Given the description of an element on the screen output the (x, y) to click on. 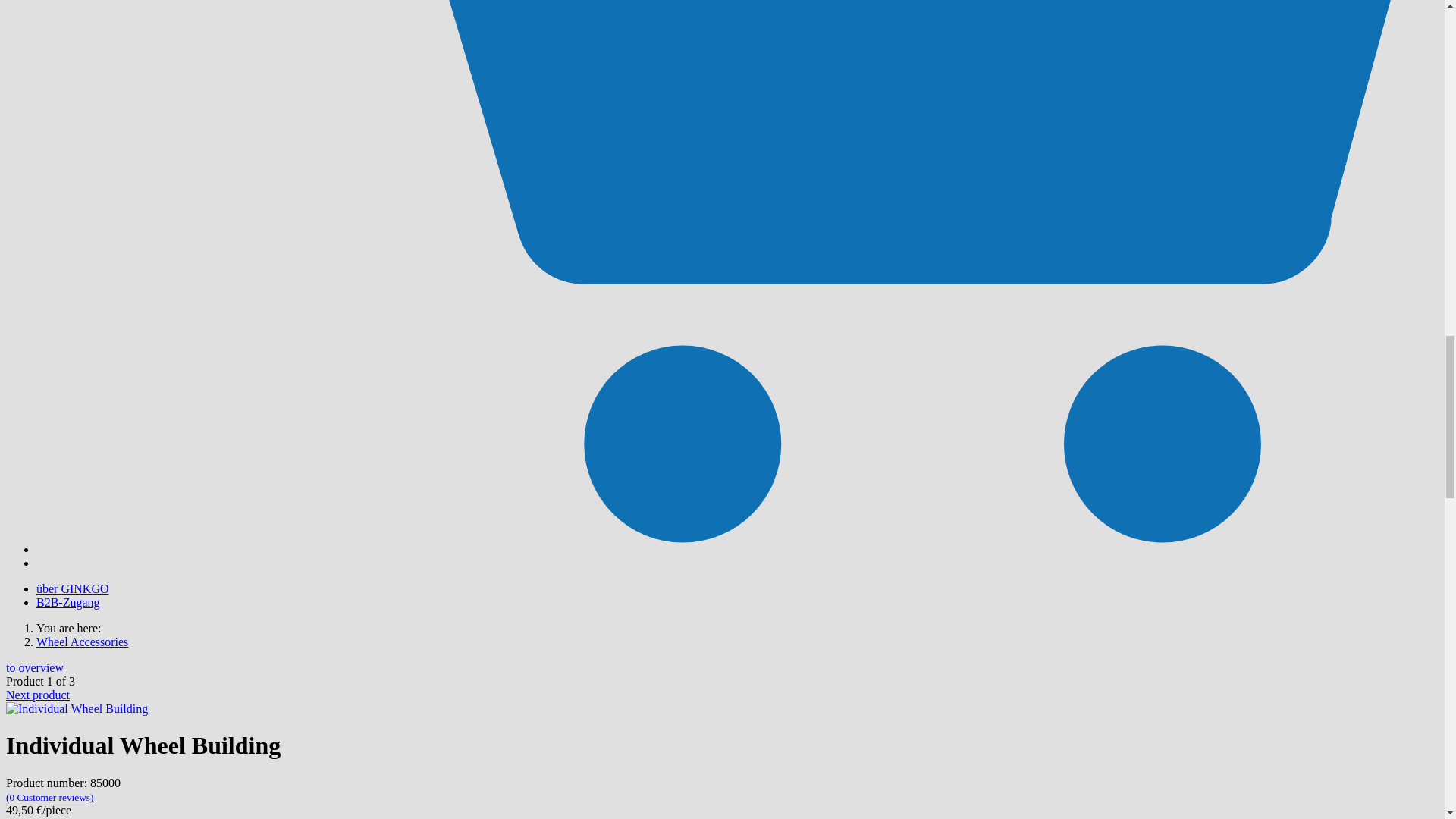
Please log in for rating! (49, 796)
Wheel Accessories (82, 641)
